Given the description of an element on the screen output the (x, y) to click on. 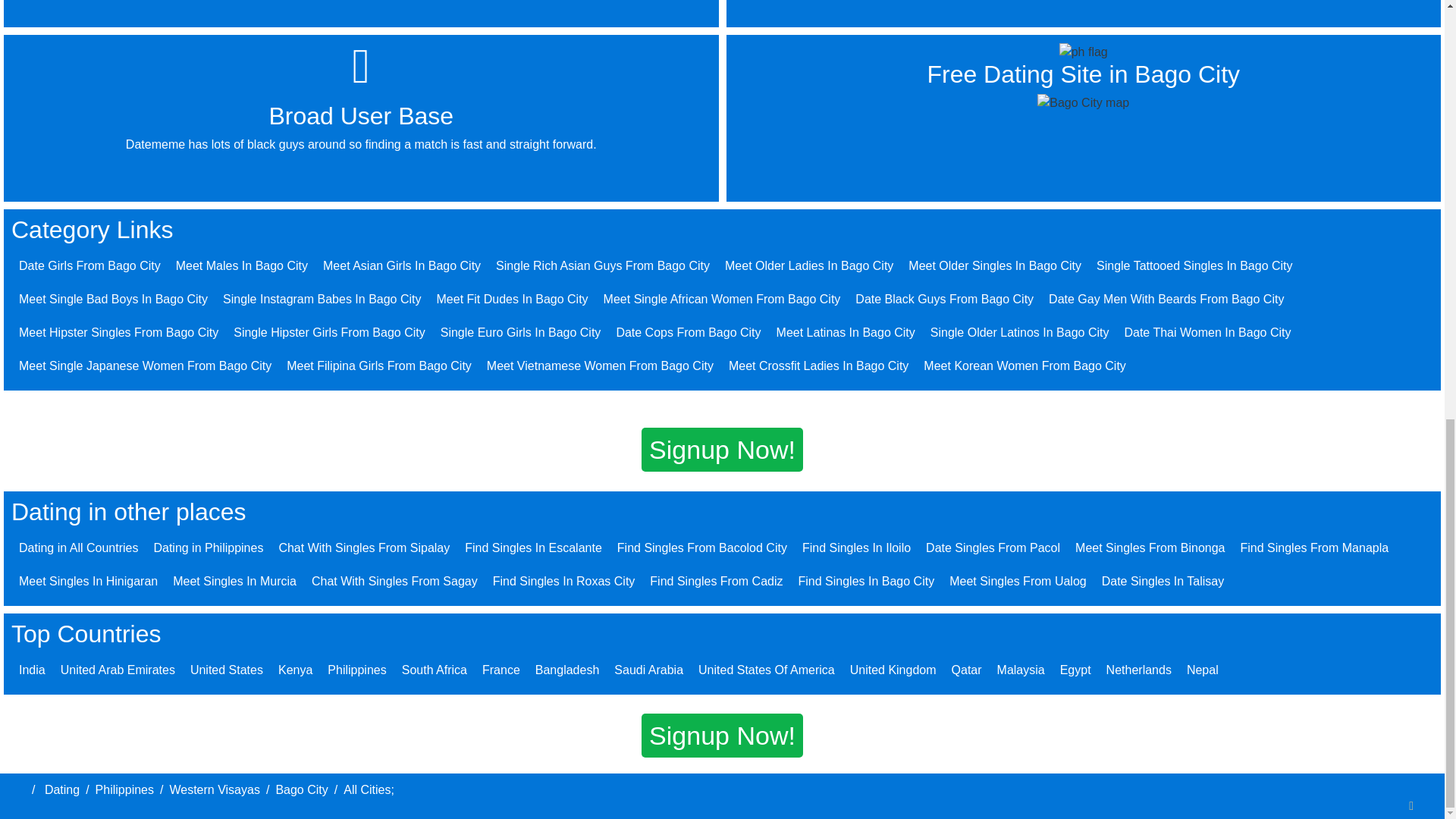
Date Girls From Bago City (89, 265)
Meet Males In Bago City (241, 265)
Meet Asian Girls In Bago City (401, 265)
Single Rich Asian Guys From Bago City (603, 265)
